Given the description of an element on the screen output the (x, y) to click on. 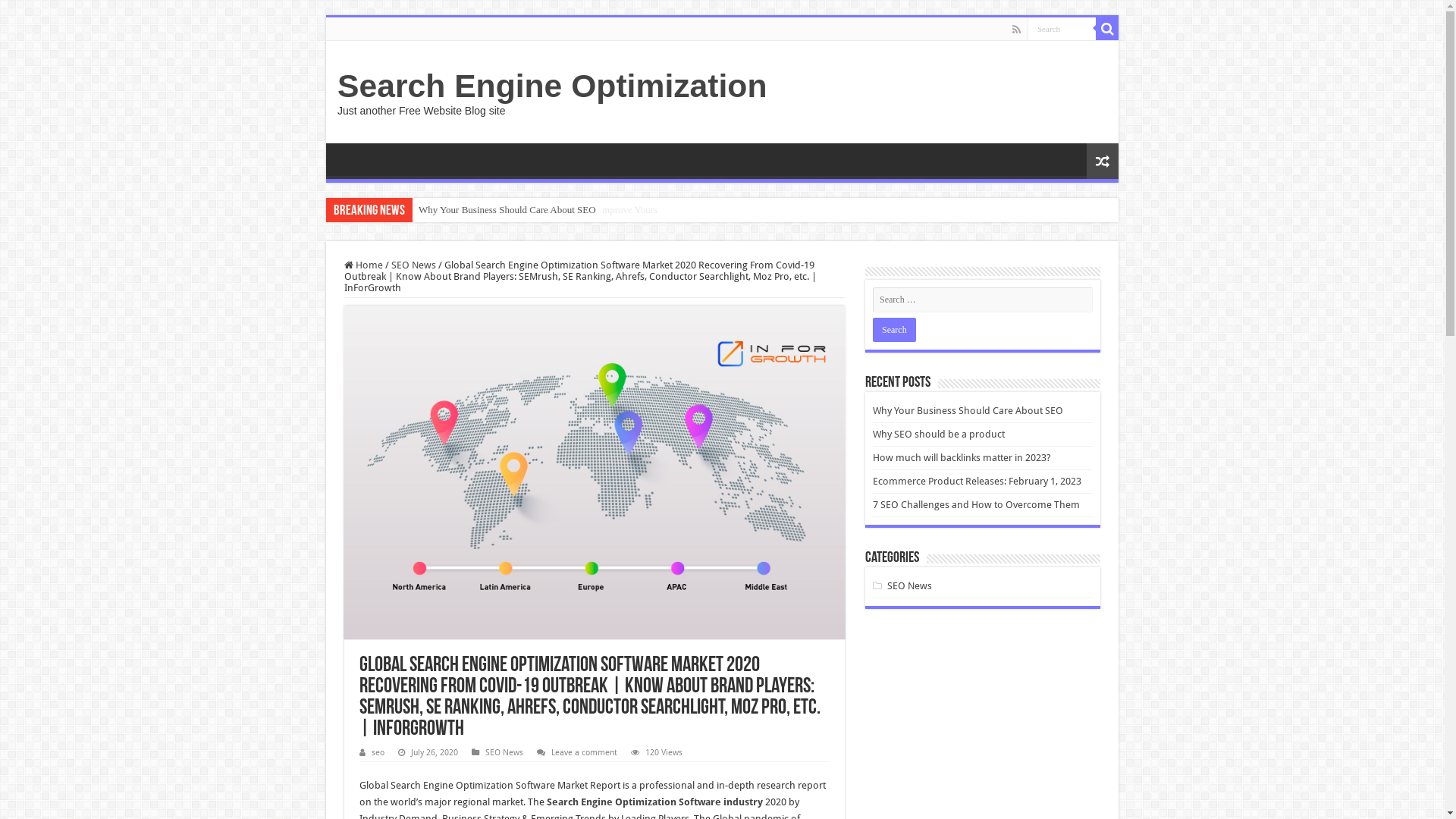
Leave a comment Element type: text (584, 752)
Home Element type: text (363, 264)
SEO News Element type: text (909, 585)
Search Element type: text (894, 329)
Ecommerce Product Releases: February 1, 2023 Element type: text (976, 480)
Search Element type: hover (1061, 28)
SEO News Element type: text (504, 752)
Rss Element type: hover (1016, 29)
Search Engine Optimization Software industry Element type: text (654, 801)
How much will backlinks matter in 2023? Element type: text (961, 457)
SEO News Element type: text (413, 264)
Why SEO should be a product Element type: text (938, 433)
Search Element type: text (1106, 28)
7 SEO Challenges and How to Overcome Them Element type: text (975, 504)
Why Your Business Should Care About SEO Element type: text (967, 410)
seo Element type: text (377, 752)
Search Engine Optimization Element type: text (551, 85)
